Given the description of an element on the screen output the (x, y) to click on. 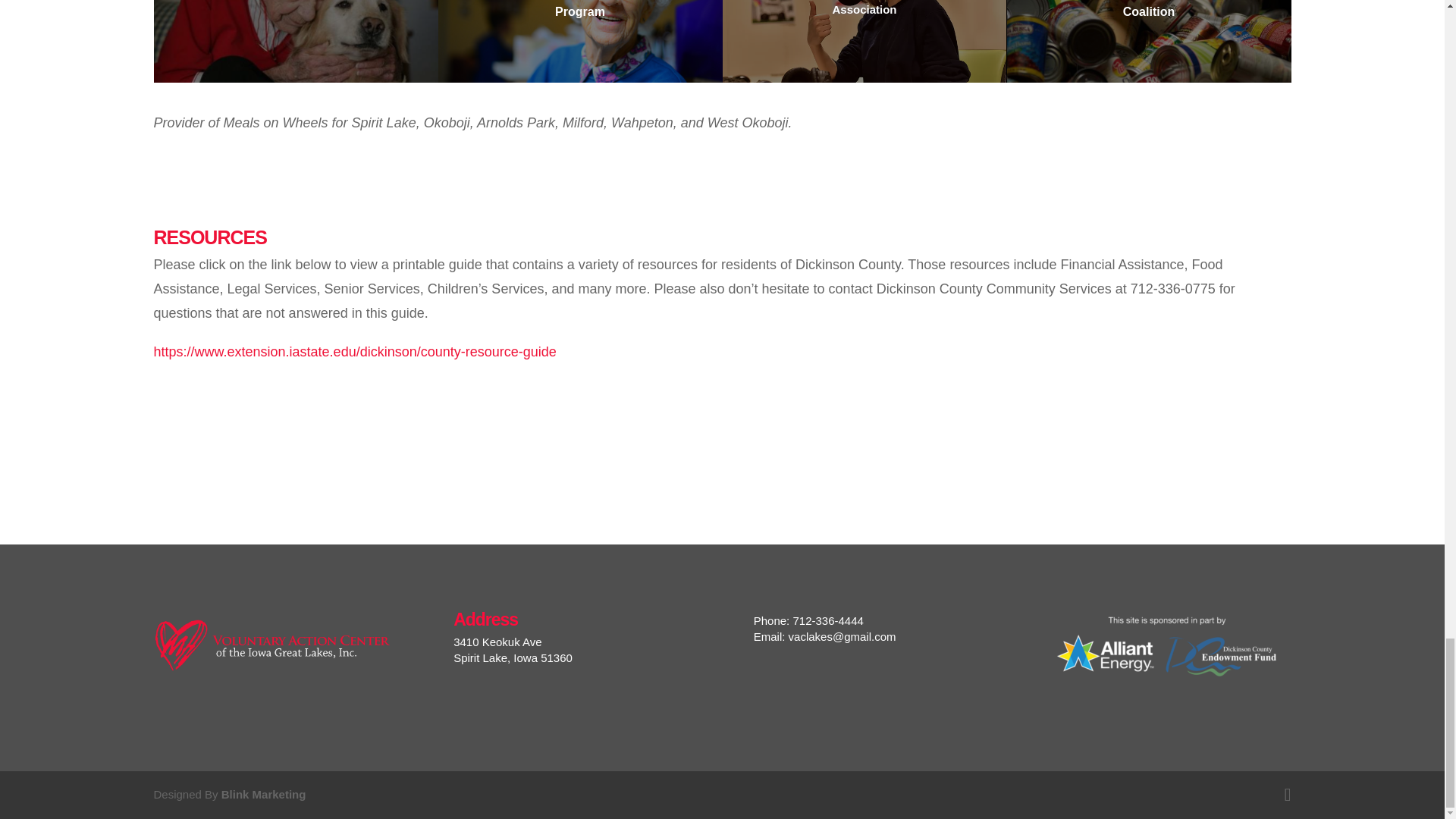
VAC Angels (295, 2)
Dickinson County Hunger Coalition (1149, 12)
Retired Senior Volunteer Program (580, 12)
Iowa Rock and Roll Music Association (864, 11)
Blink Marketing (263, 793)
